Given the description of an element on the screen output the (x, y) to click on. 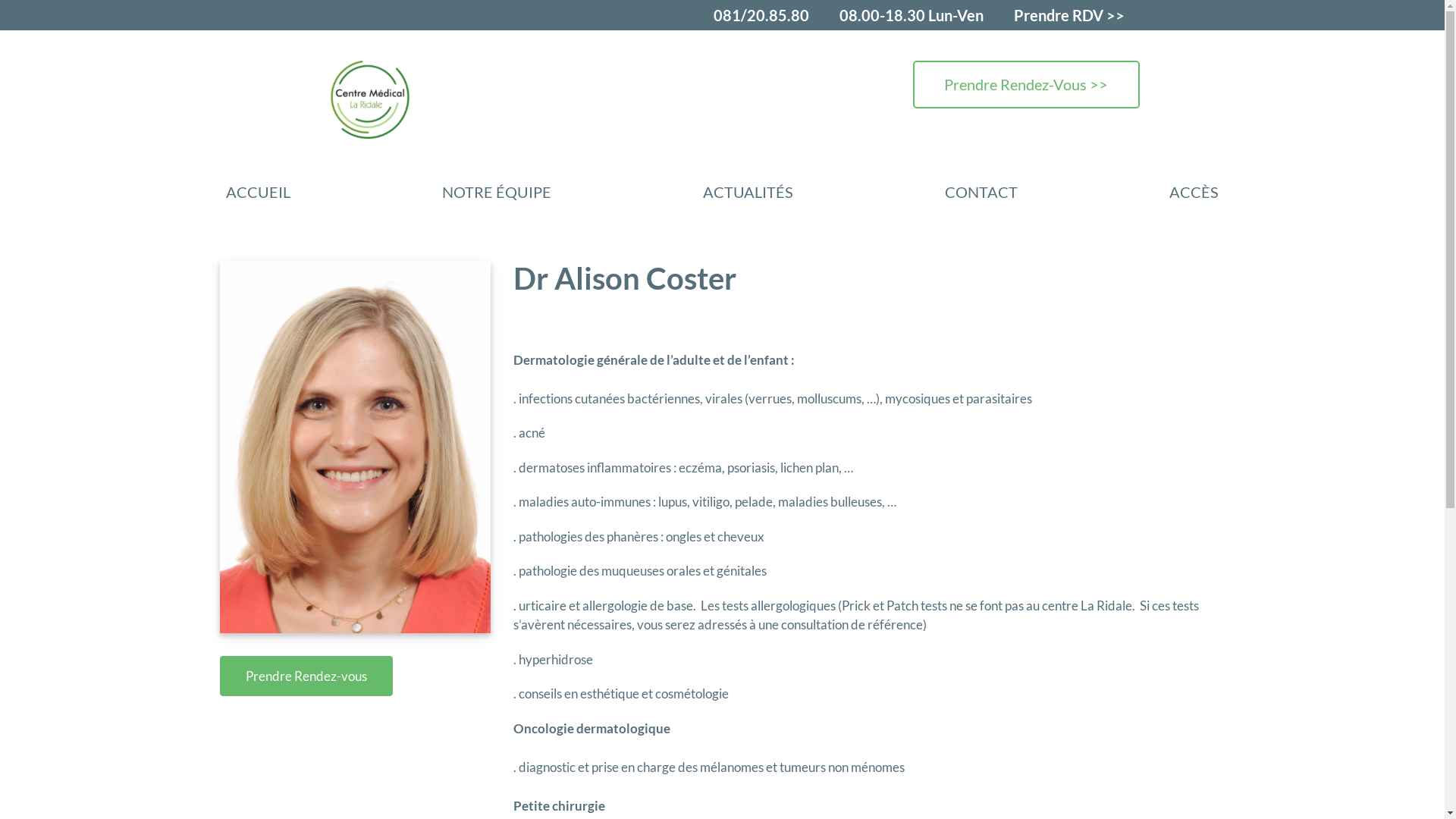
Aller au contenu Element type: text (0, 0)
08.00-18.30 Lun-Ven Element type: text (910, 15)
ACCUEIL Element type: text (258, 191)
Prendre RDV >> Element type: text (1068, 15)
Prendre Rendez-Vous >> Element type: text (1026, 84)
DSC_0007 Element type: hover (354, 446)
081/20.85.80 Element type: text (760, 15)
Prendre Rendez-vous Element type: text (305, 675)
CONTACT Element type: text (981, 191)
